Given the description of an element on the screen output the (x, y) to click on. 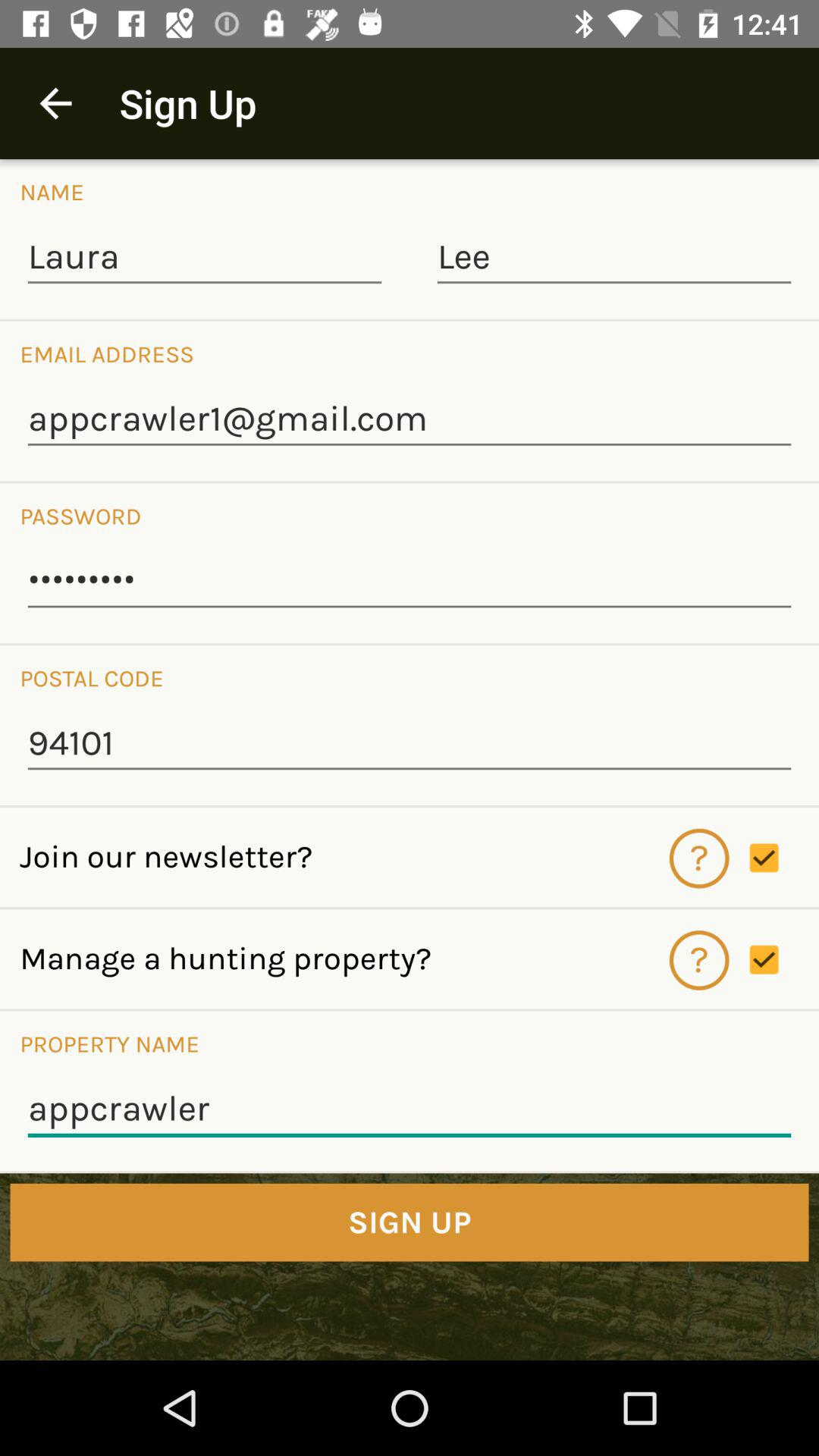
click appcrawler1@gmail.com (409, 419)
